Given the description of an element on the screen output the (x, y) to click on. 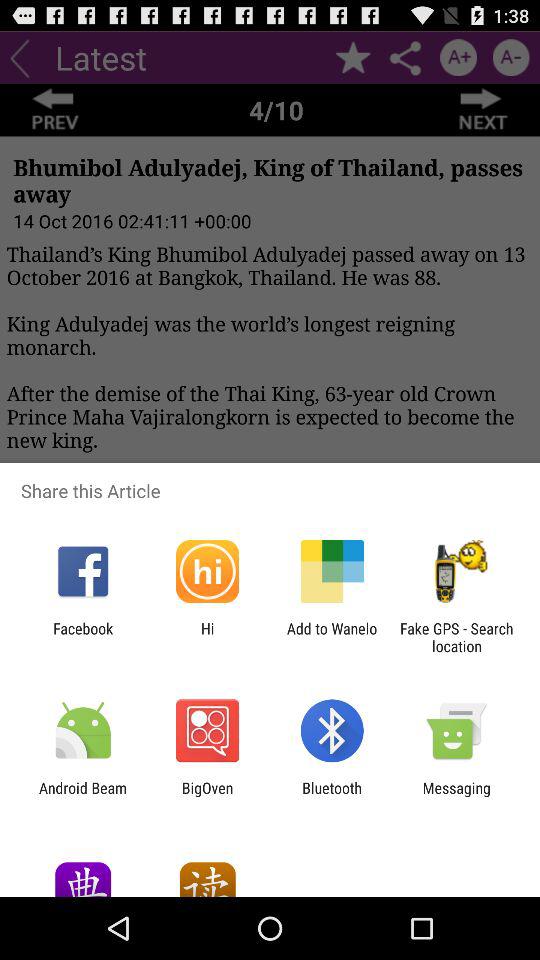
choose fake gps search item (456, 637)
